Given the description of an element on the screen output the (x, y) to click on. 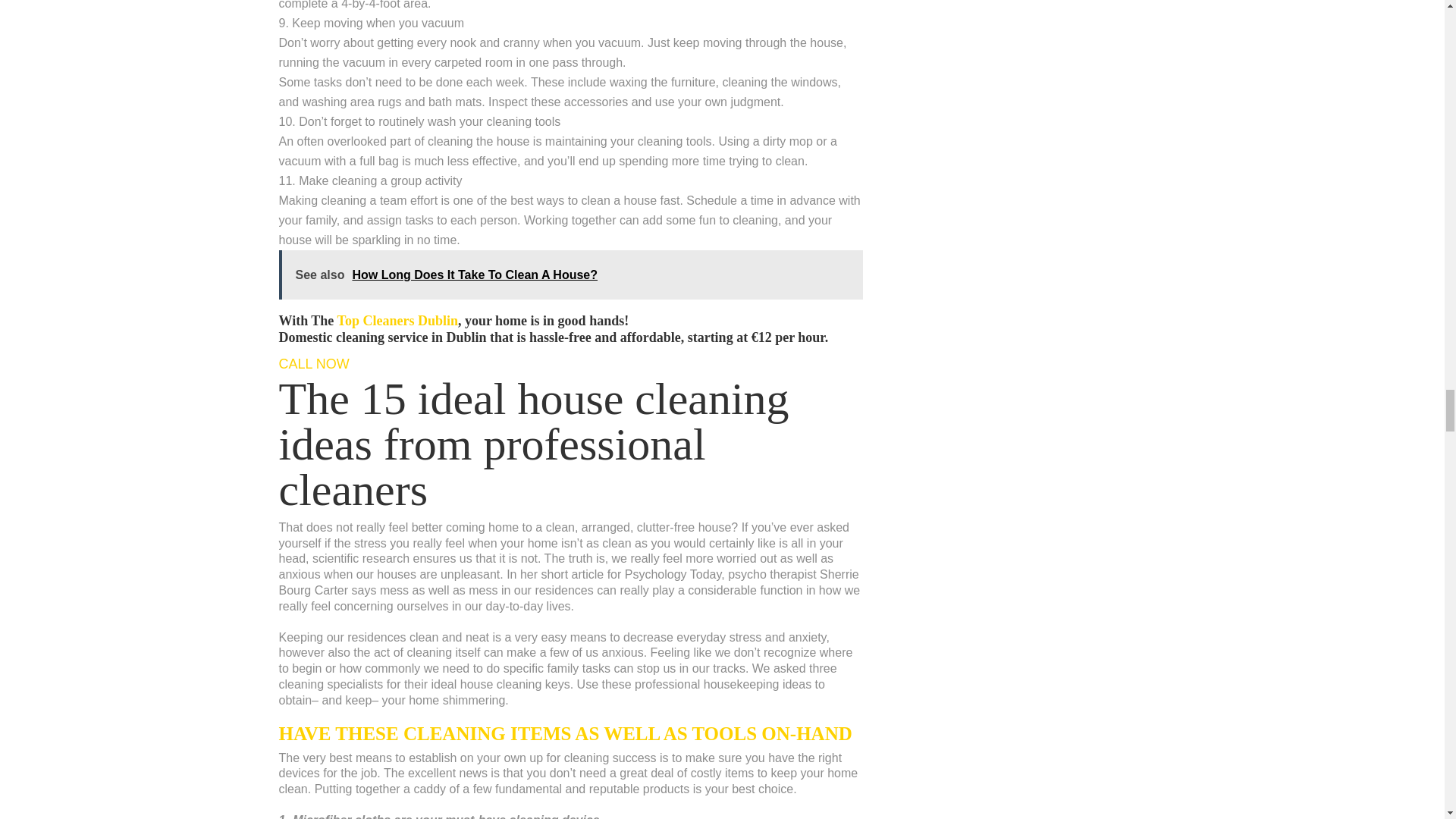
Top Cleaners Dublin (397, 320)
See also  How Long Does It Take To Clean A House? (571, 274)
CALL NOW (314, 363)
